Given the description of an element on the screen output the (x, y) to click on. 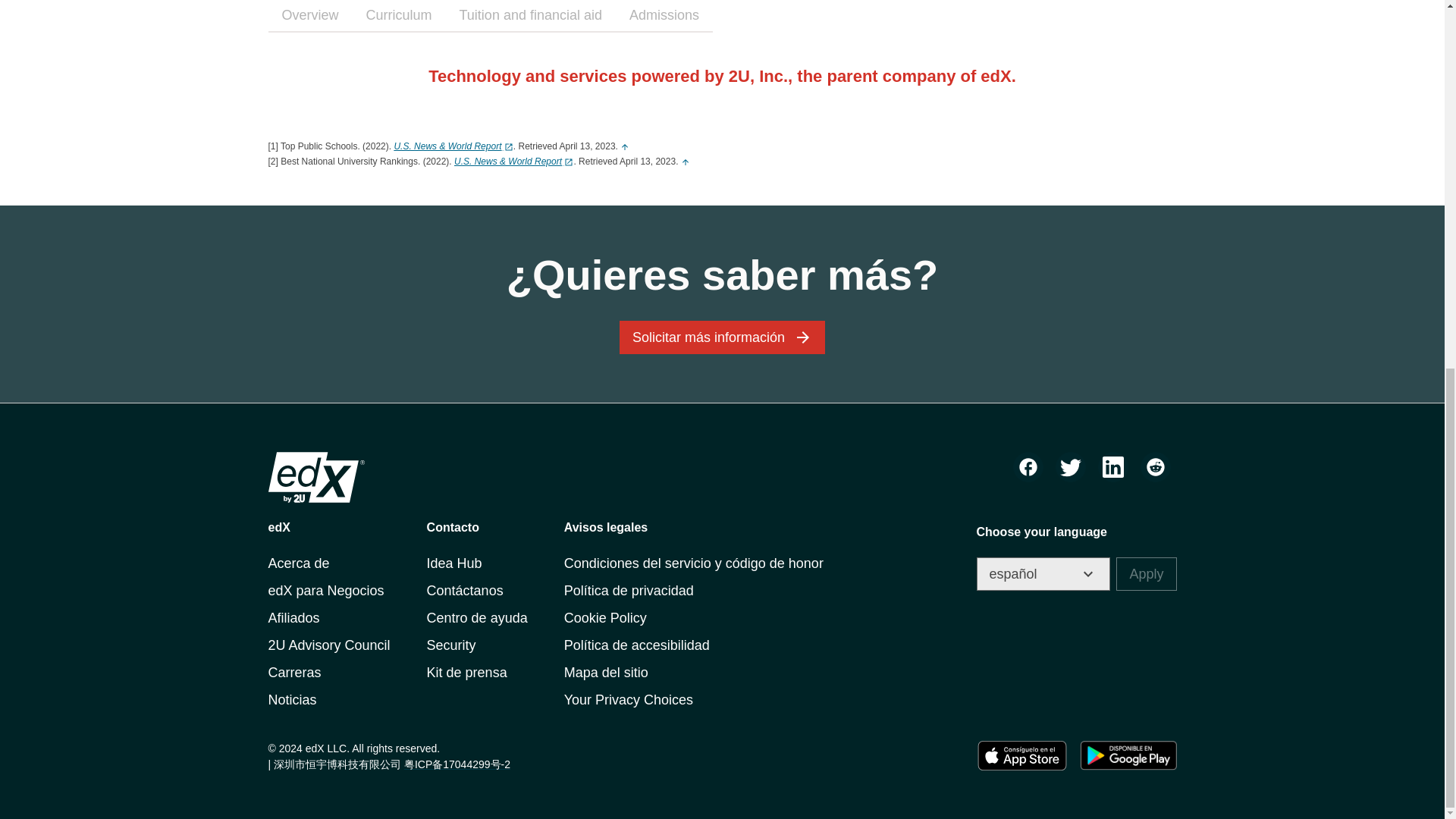
Twitter (1070, 467)
Facebook (1028, 467)
LinkedIn (1112, 467)
Reddit (1155, 467)
